Given the description of an element on the screen output the (x, y) to click on. 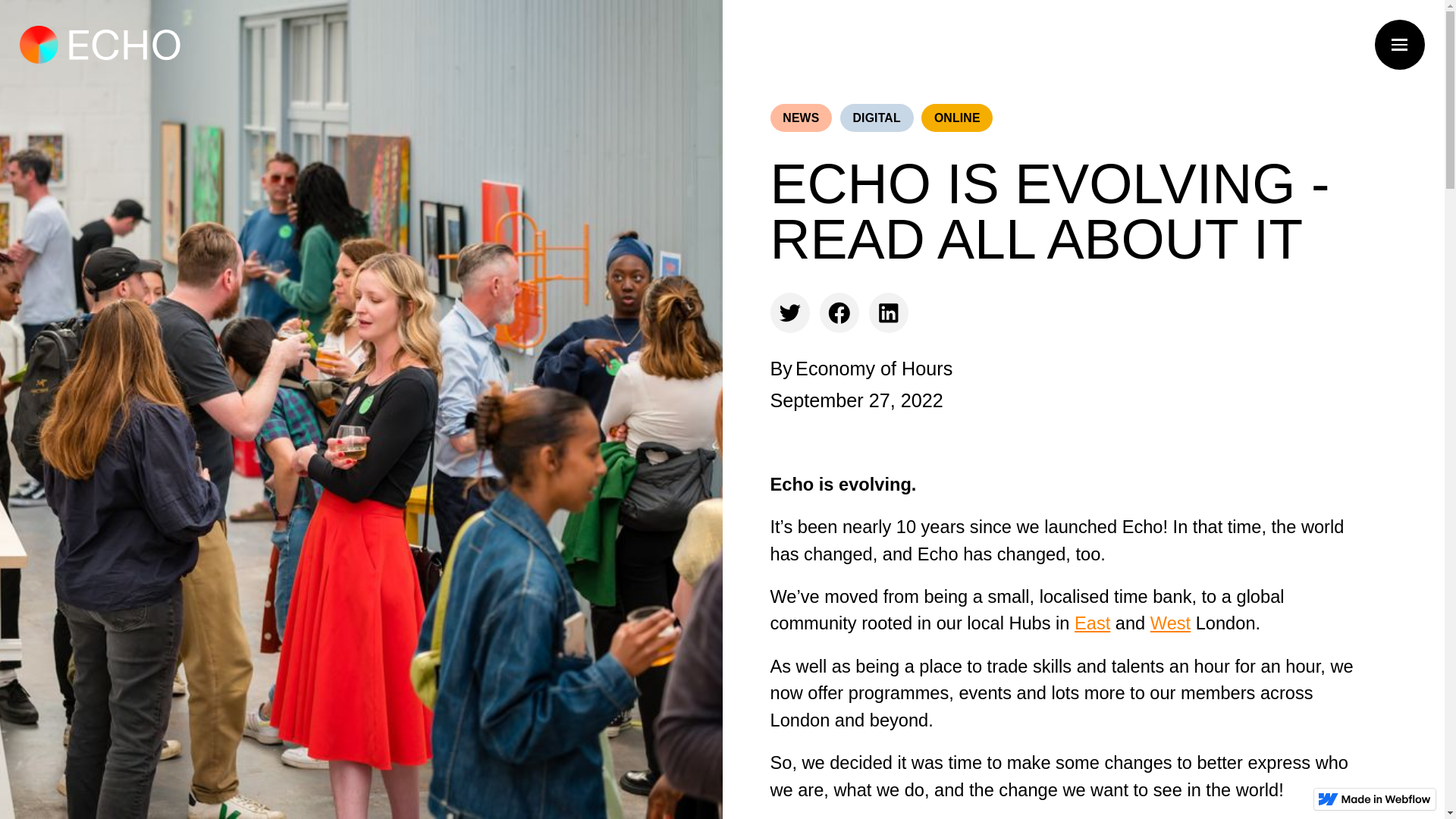
Tweet (790, 312)
Share on Facebook (839, 312)
Share on LinkedIn (888, 312)
West (1170, 623)
East (1091, 623)
